Given the description of an element on the screen output the (x, y) to click on. 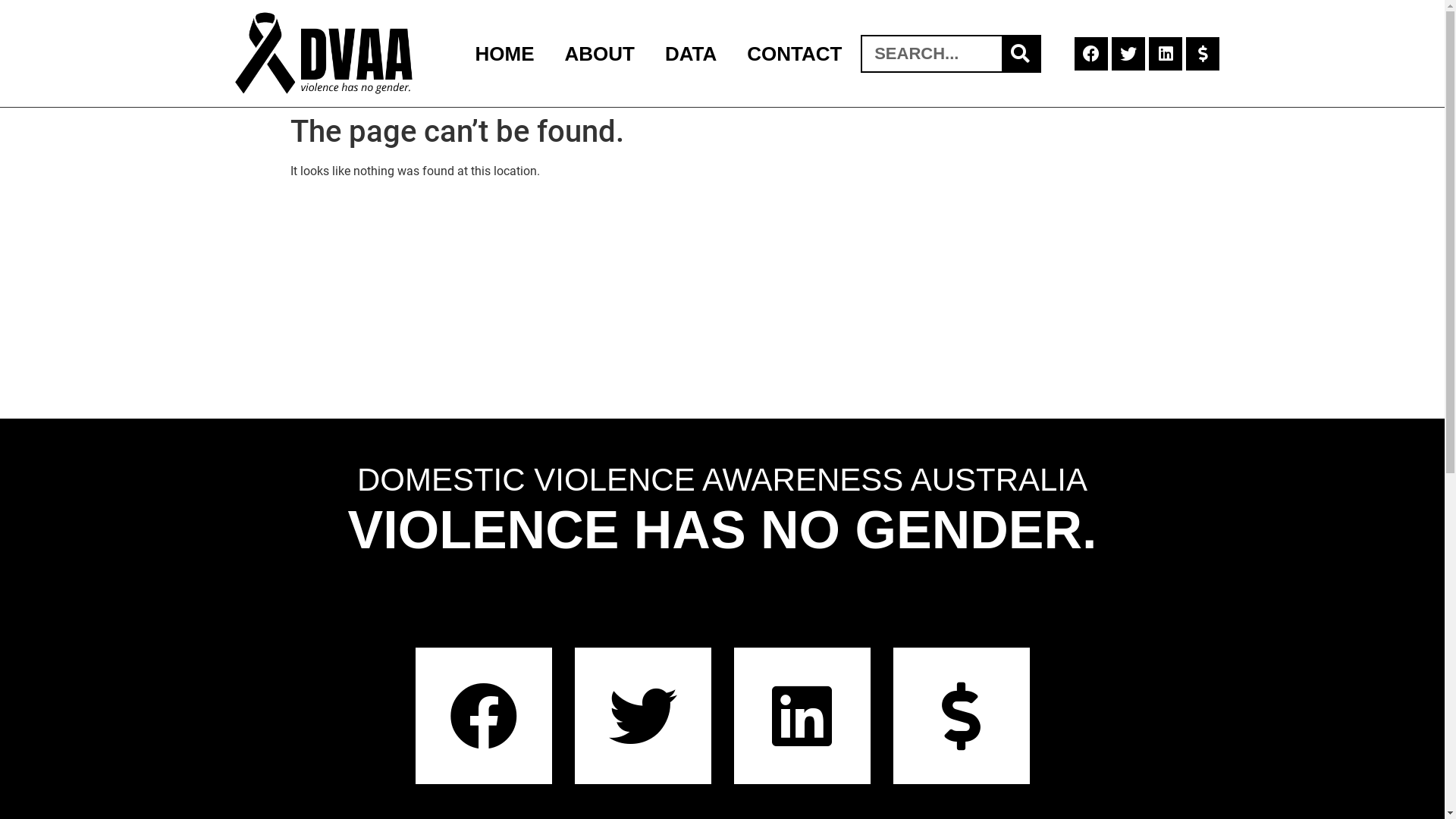
Advertisement Element type: hover (721, 304)
HOME Element type: text (504, 52)
ABOUT Element type: text (599, 52)
CONTACT Element type: text (793, 52)
DATA Element type: text (690, 52)
